Given the description of an element on the screen output the (x, y) to click on. 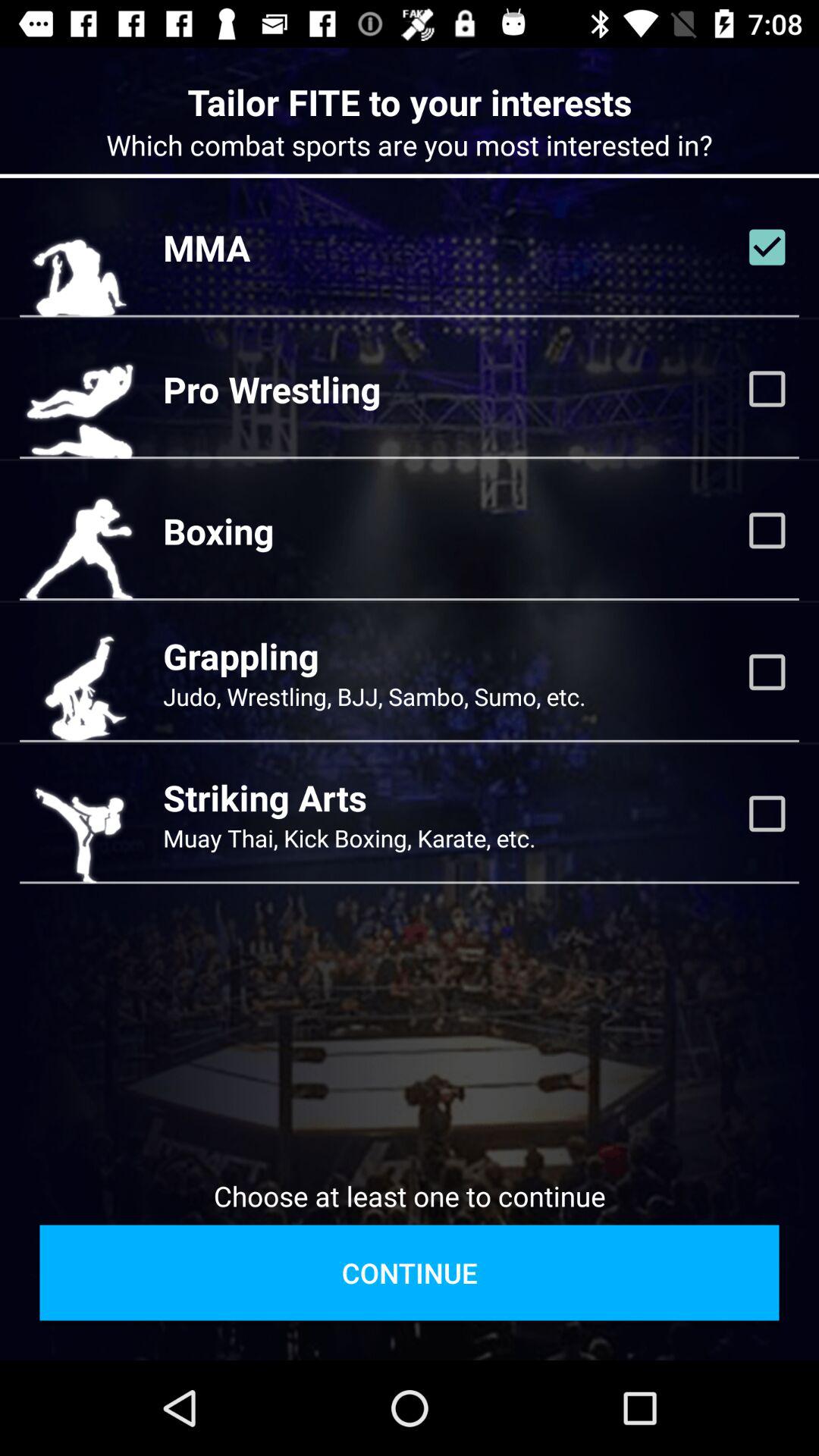
tap the striking arts item (264, 797)
